Given the description of an element on the screen output the (x, y) to click on. 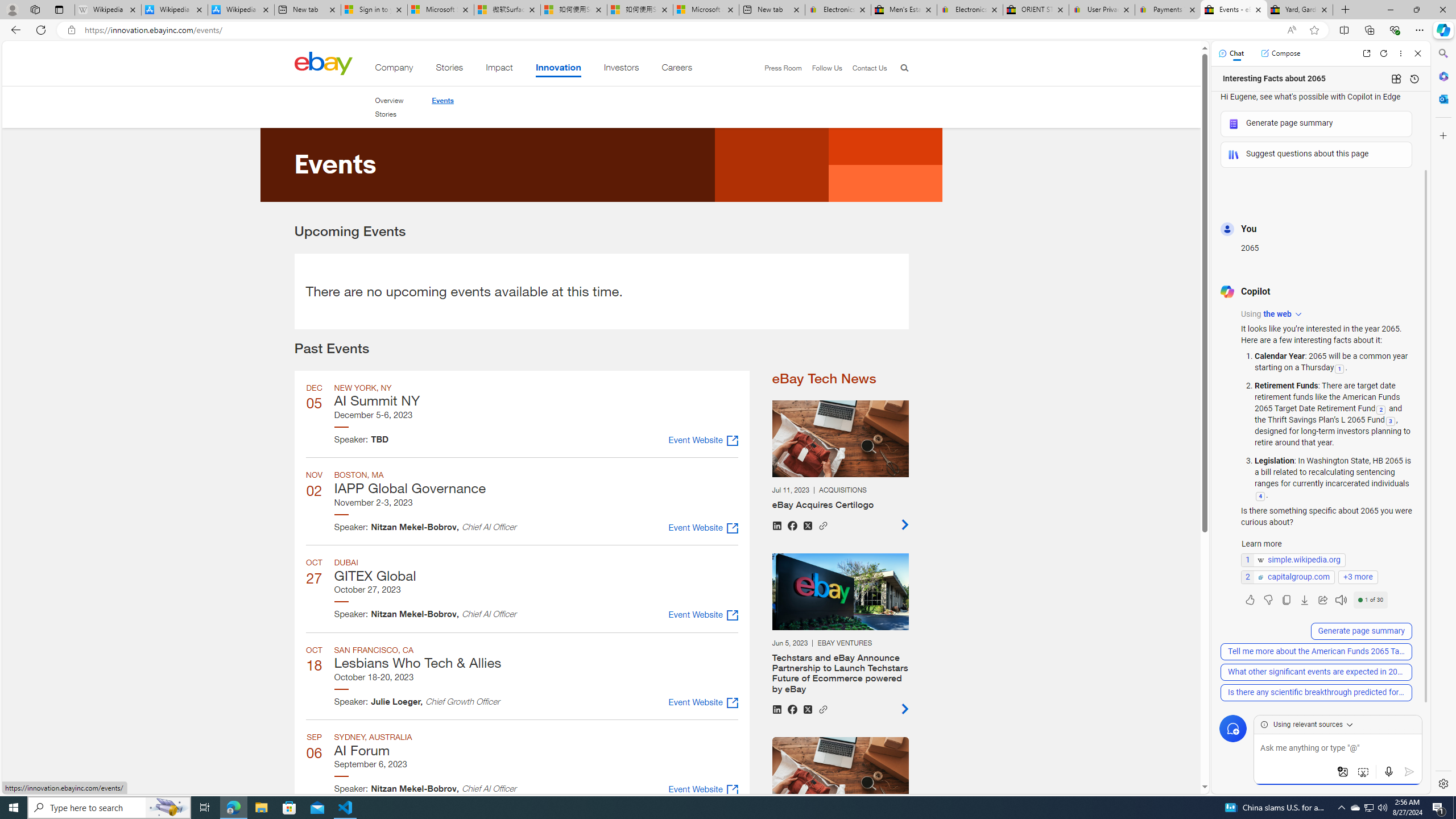
Stories (388, 113)
Compose (1280, 52)
Investors (620, 69)
Press Room (783, 67)
Class: desktop (323, 63)
Company (393, 69)
